Given the description of an element on the screen output the (x, y) to click on. 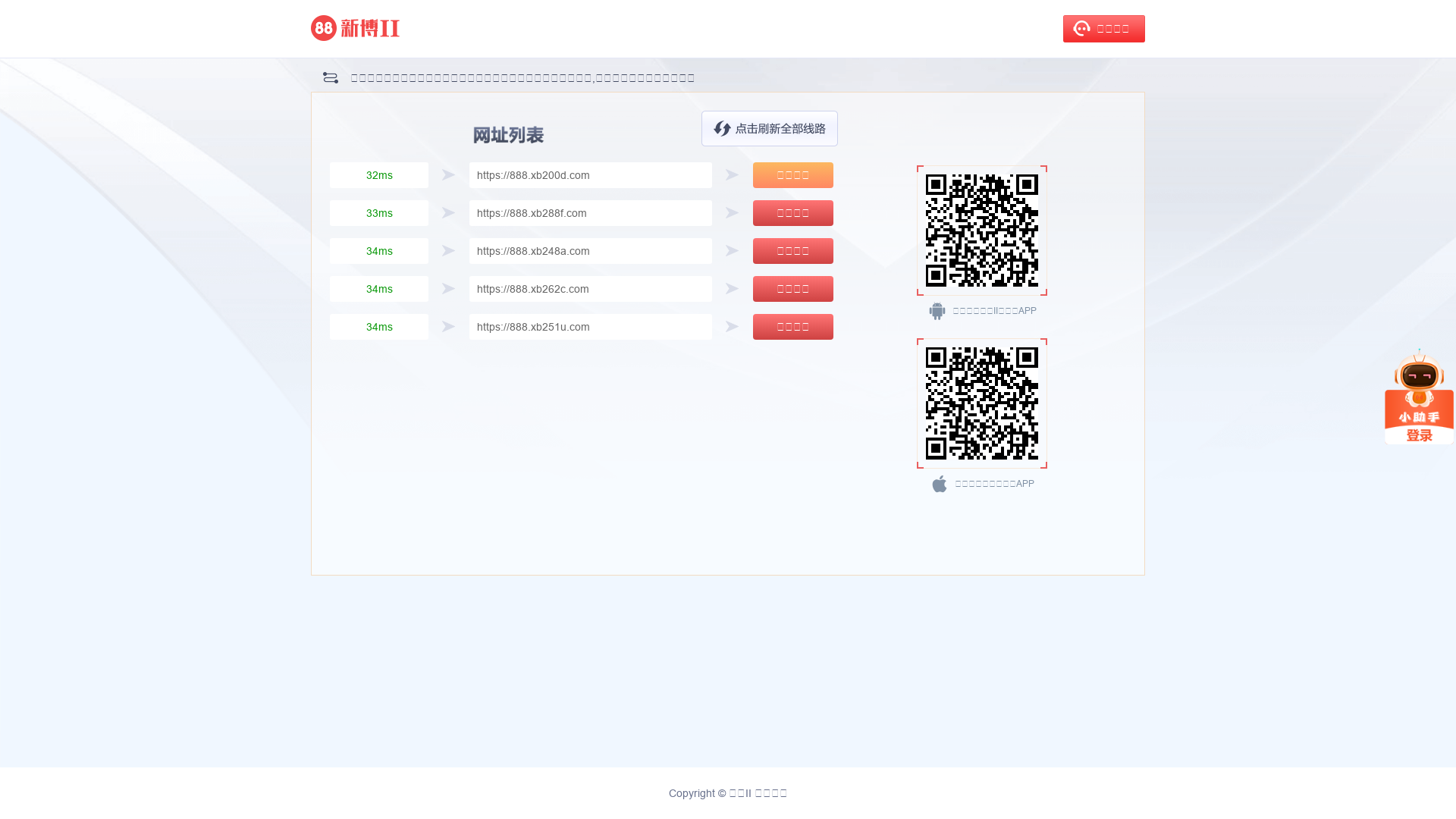
https://www.d3s9v.cc/download/nn9ejT Element type: hover (981, 230)
https://www.d3s9v.cc/download/nn9ejT Element type: hover (981, 403)
